Given the description of an element on the screen output the (x, y) to click on. 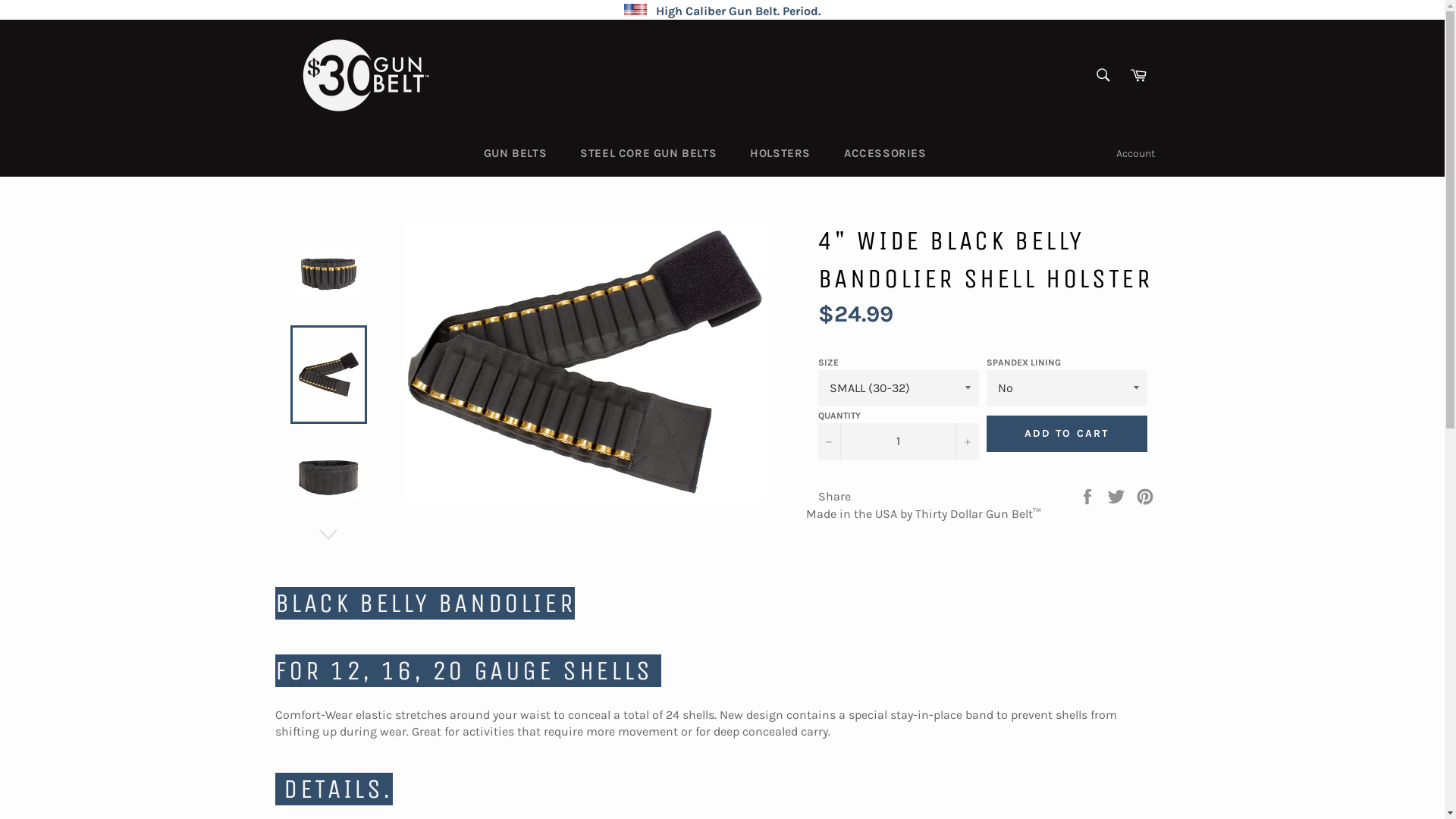
ACCESSORIES Element type: text (884, 153)
Pin on Pinterest Element type: text (1144, 495)
Tweet on Twitter Element type: text (1117, 495)
HOLSTERS Element type: text (779, 153)
GUN BELTS Element type: text (514, 153)
Account Element type: text (1135, 153)
ADD TO CART Element type: text (1065, 433)
+ Element type: text (966, 441)
STEEL CORE GUN BELTS Element type: text (647, 153)
Share on Facebook Element type: text (1088, 495)
Cart Element type: text (1138, 75)
Search Element type: text (1103, 75)
